Given the description of an element on the screen output the (x, y) to click on. 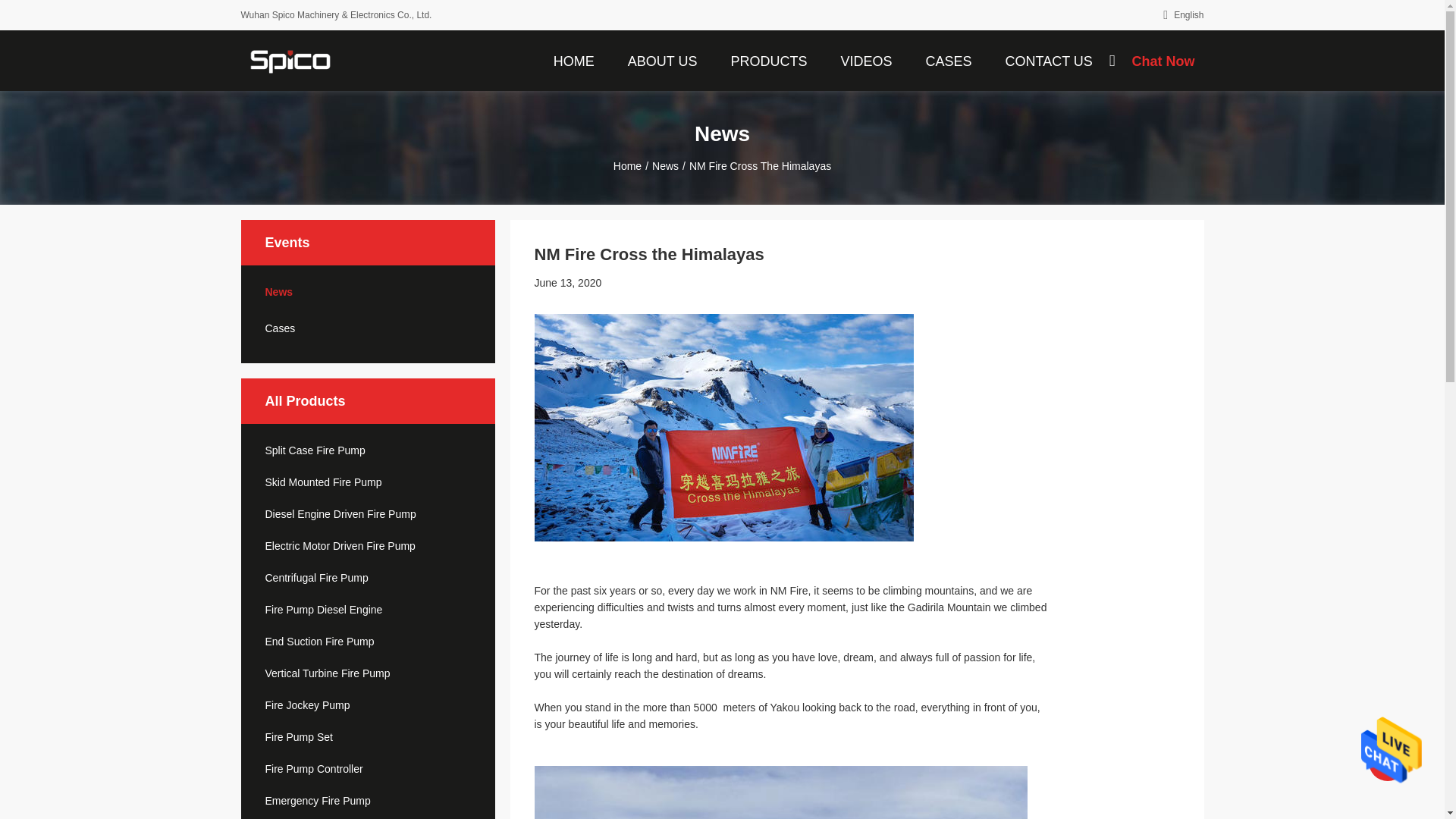
CASES (947, 60)
VIDEOS (866, 60)
HOME (574, 60)
Home (574, 60)
CONTACT US (1047, 60)
ABOUT US (662, 60)
PRODUCTS (767, 60)
About Us (662, 60)
